Given the description of an element on the screen output the (x, y) to click on. 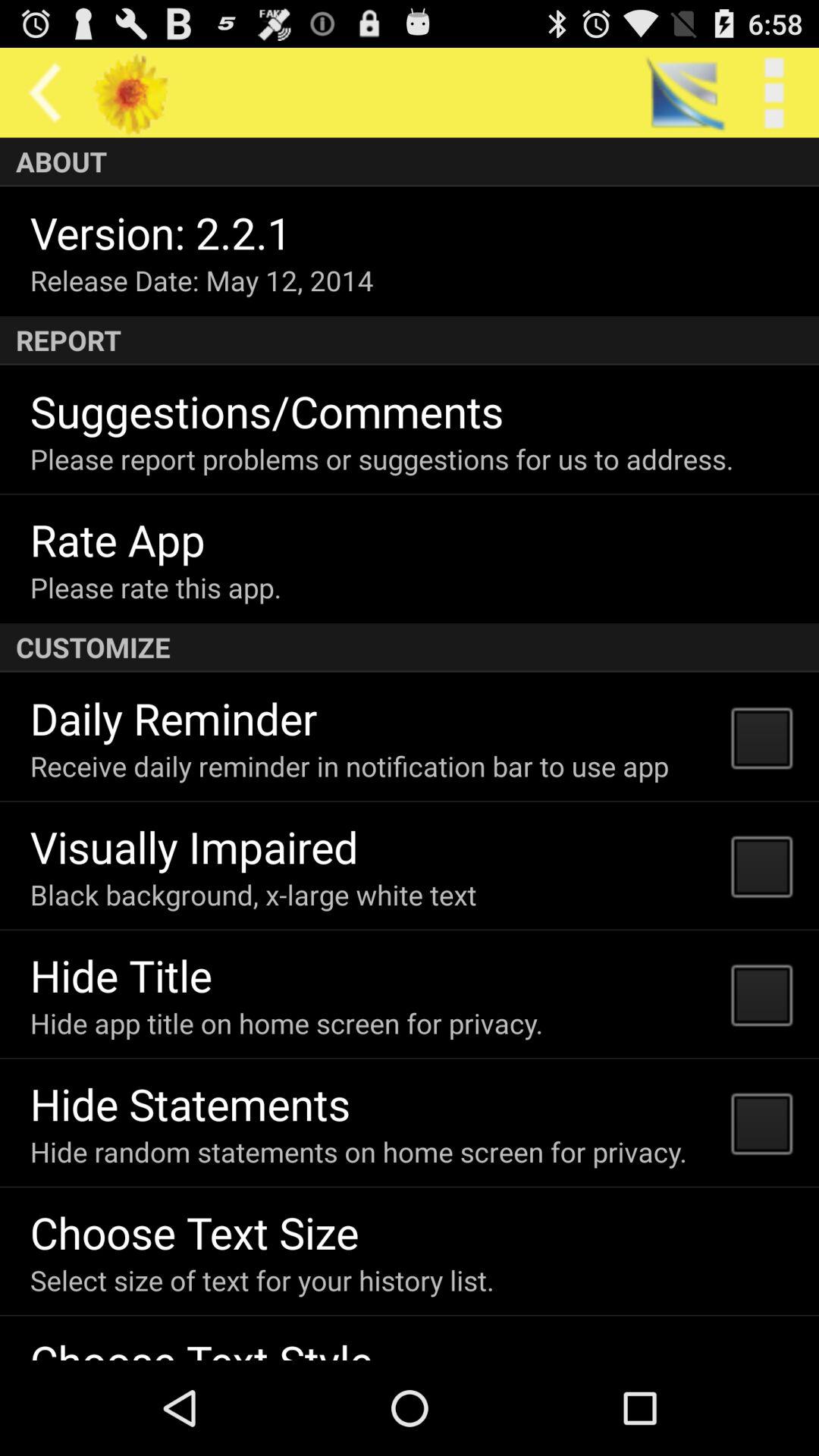
launch app below the please rate this icon (409, 647)
